Given the description of an element on the screen output the (x, y) to click on. 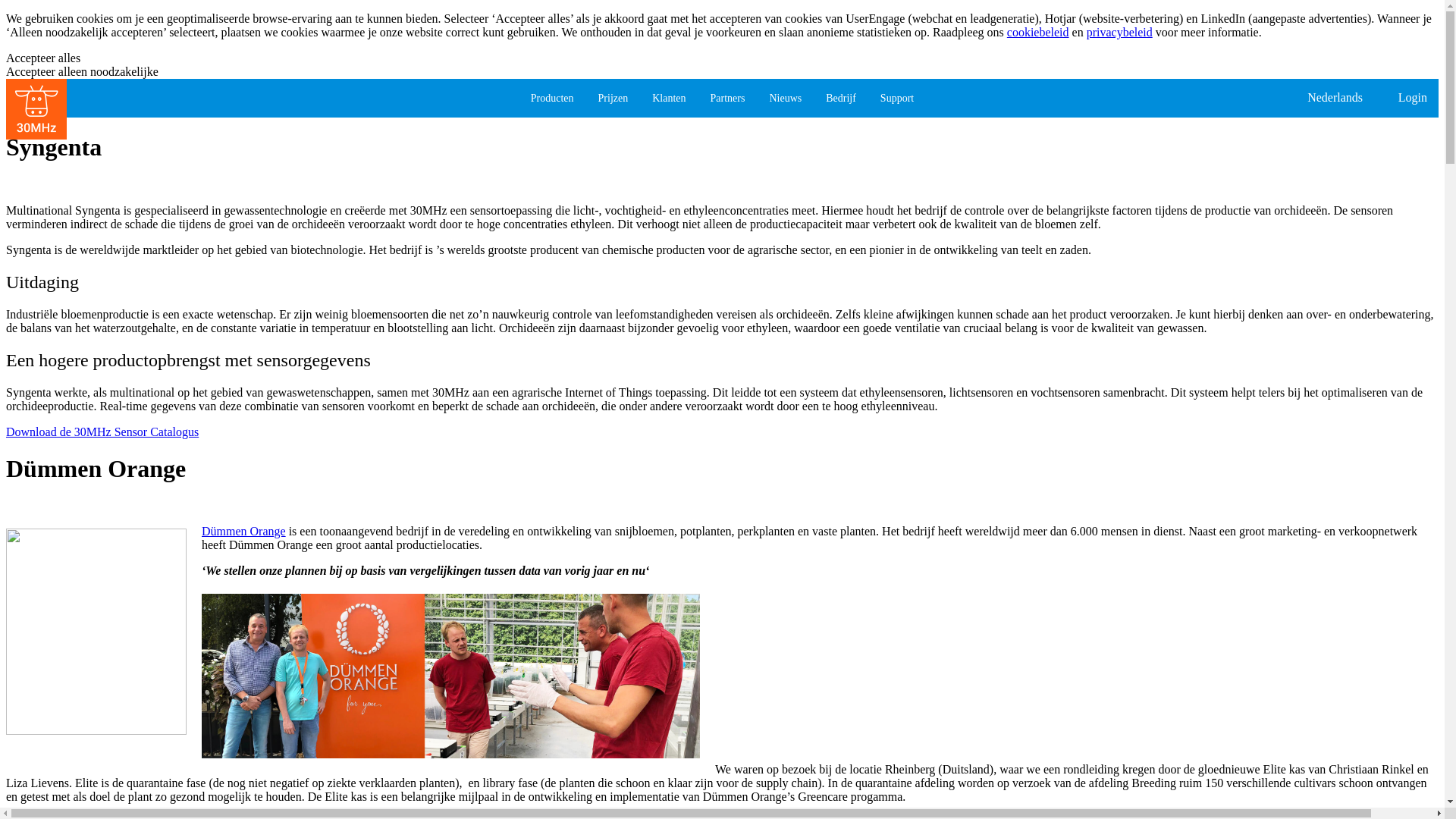
Login Element type: text (1412, 97)
Producten Element type: text (552, 98)
Nederlands Element type: text (1334, 97)
Nieuws Element type: text (785, 98)
Download de 30MHz Sensor Catalogus Element type: text (102, 430)
Prijzen Element type: text (613, 98)
Partners Element type: text (727, 98)
Support Element type: text (896, 98)
Bedrijf Element type: text (840, 98)
Klanten Element type: text (668, 98)
privacybeleid Element type: text (1119, 31)
cookiebeleid Element type: text (1038, 31)
